Given the description of an element on the screen output the (x, y) to click on. 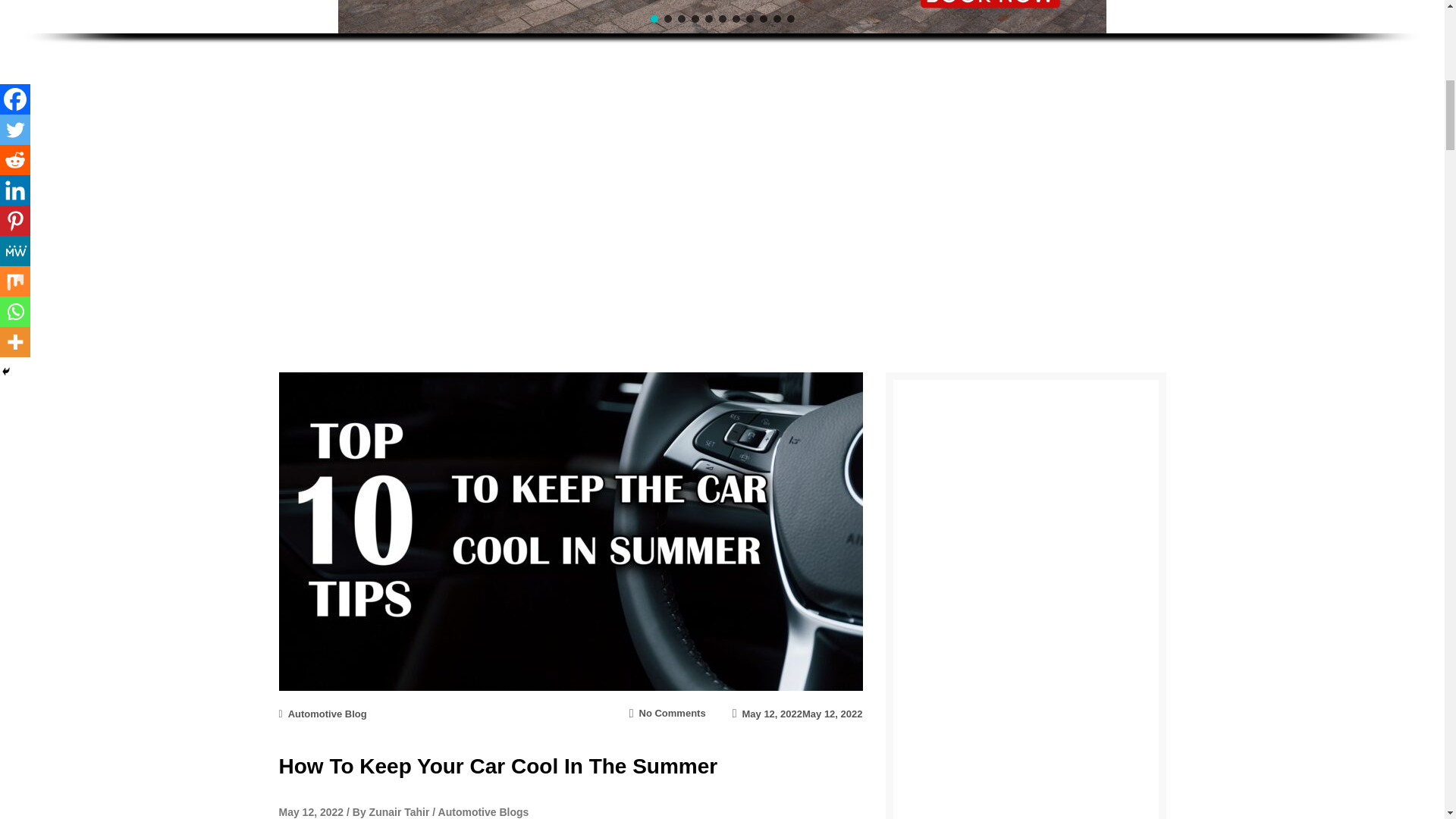
May 12, 2022May 12, 2022 (797, 713)
Automotive Blog (672, 713)
